Given the description of an element on the screen output the (x, y) to click on. 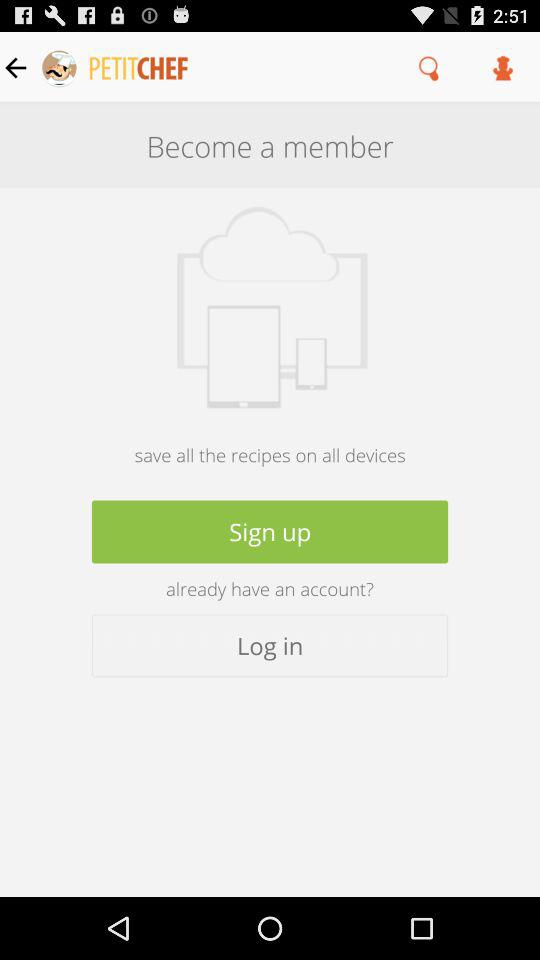
launch the item below save all the icon (269, 531)
